Given the description of an element on the screen output the (x, y) to click on. 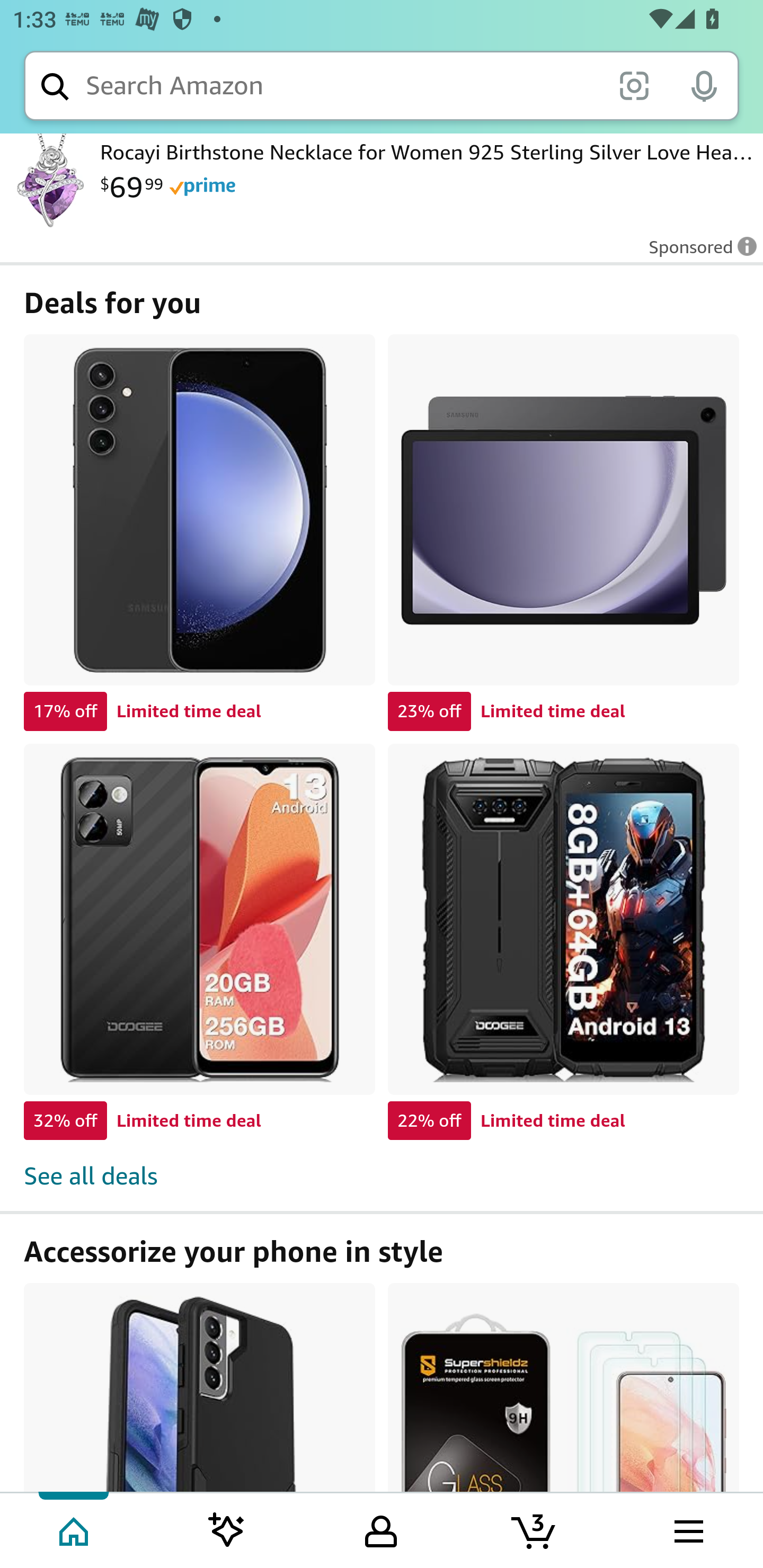
scan it (633, 85)
Leave feedback on Sponsored ad Sponsored  (696, 252)
See all deals (381, 1166)
Home Tab 1 of 5 (75, 1529)
Inspire feed Tab 2 of 5 (227, 1529)
Your Amazon.com Tab 3 of 5 (380, 1529)
Cart 3 items Tab 4 of 5 3 (534, 1529)
Browse menu Tab 5 of 5 (687, 1529)
